Given the description of an element on the screen output the (x, y) to click on. 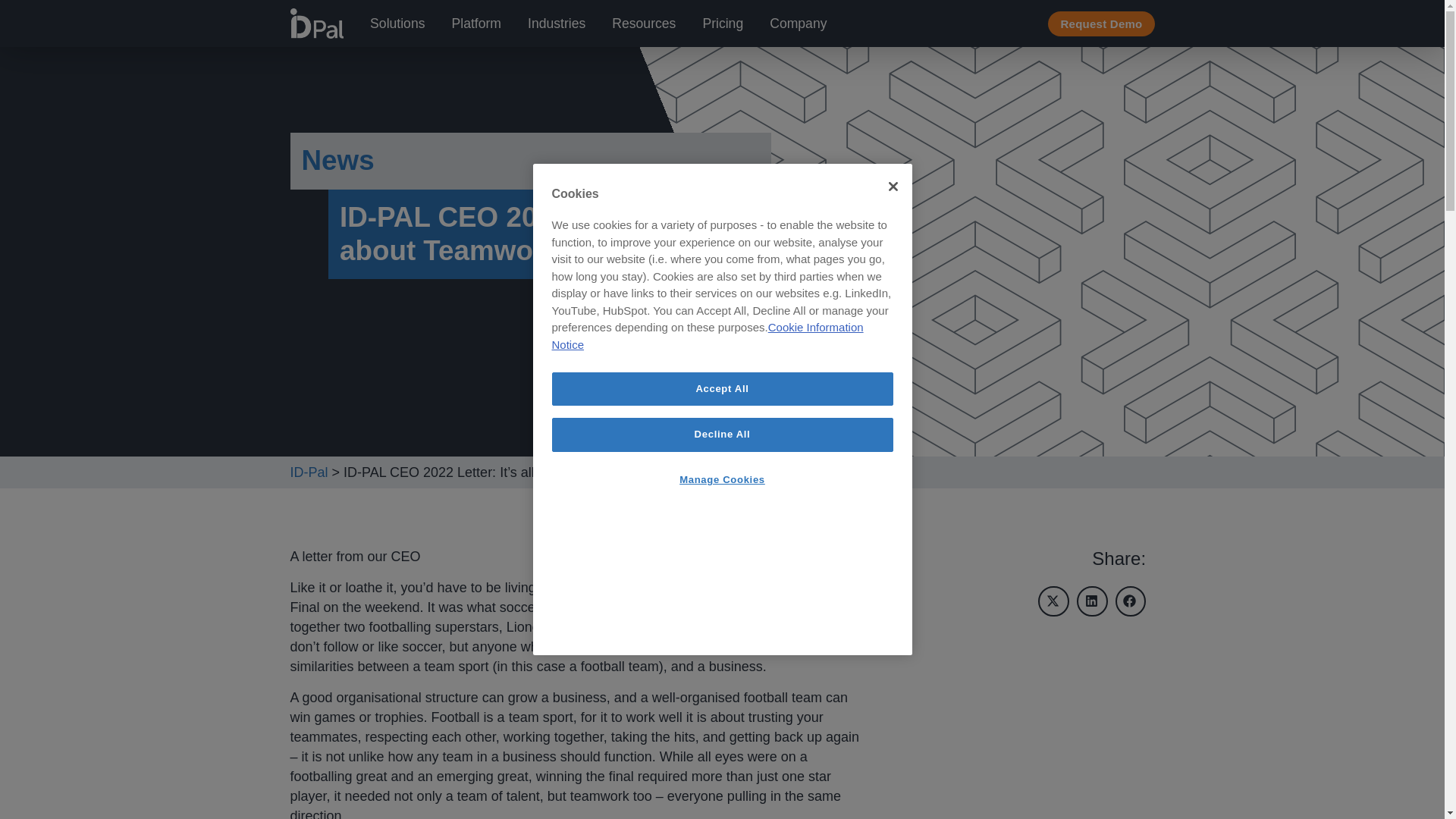
Pricing (721, 23)
Company (798, 23)
ID-Pal logo white (316, 23)
Resources (643, 23)
Solutions (397, 23)
Industries (556, 23)
Platform (476, 23)
